Given the description of an element on the screen output the (x, y) to click on. 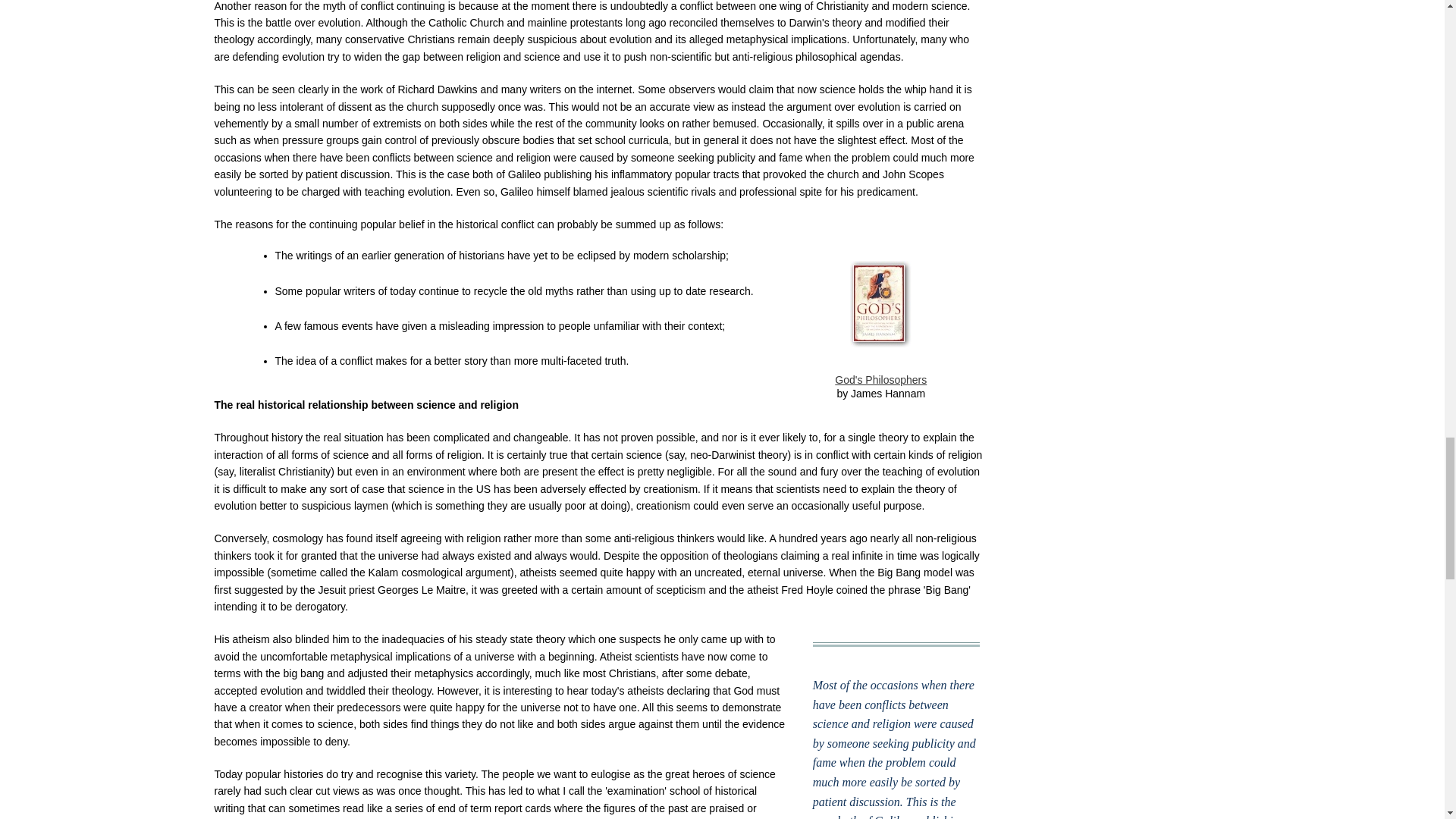
God's Philosophers (880, 379)
